Given the description of an element on the screen output the (x, y) to click on. 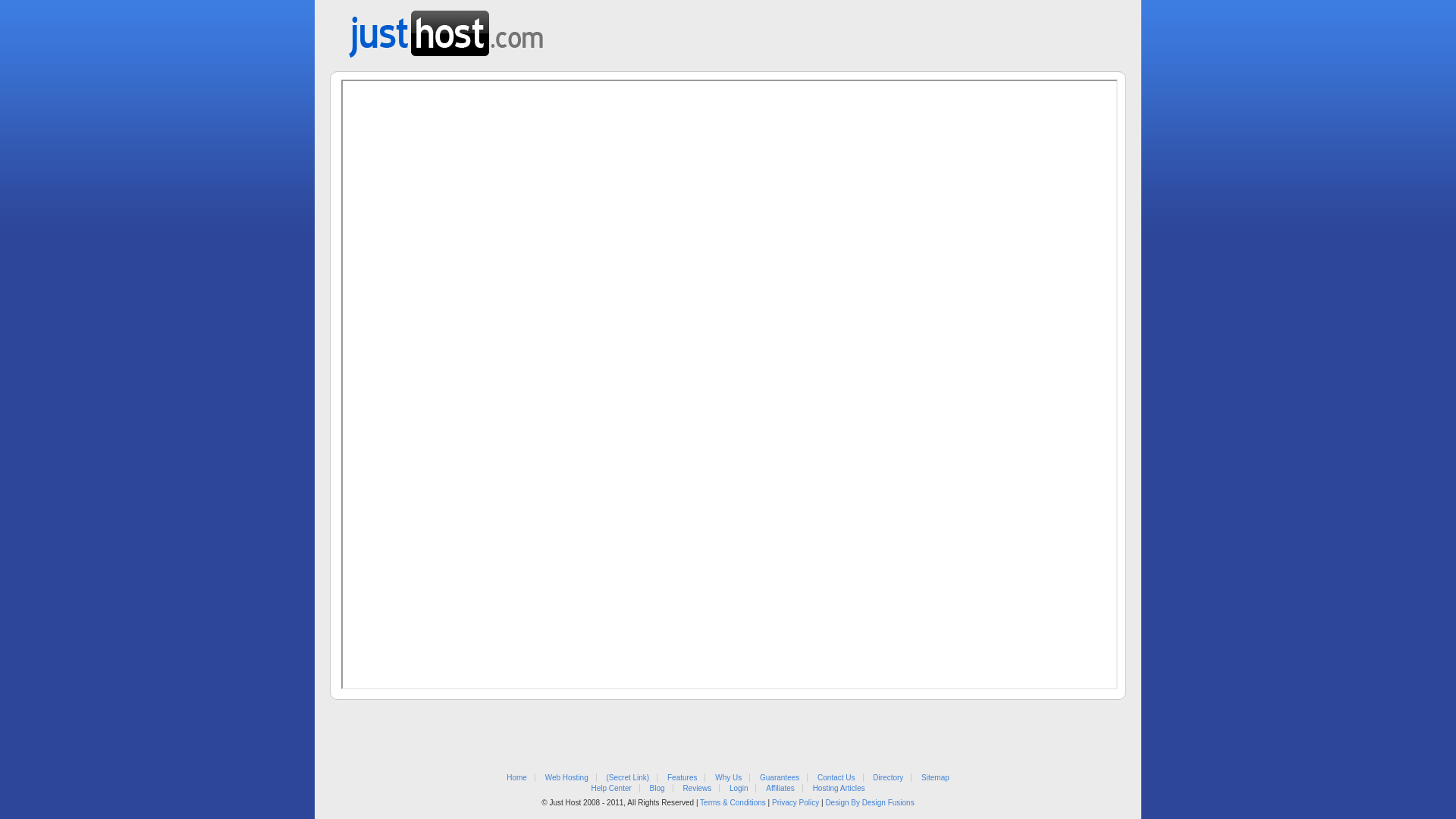
Hosting Articles Element type: text (838, 788)
Affiliates Element type: text (779, 788)
Blog Element type: text (657, 788)
(Secret Link) Element type: text (627, 777)
Guarantees Element type: text (779, 777)
Web Hosting from Just Host Element type: text (445, 28)
Help Center Element type: text (610, 788)
Web Hosting Element type: text (566, 777)
Terms & Conditions Element type: text (732, 802)
Contact Us Element type: text (835, 777)
Directory Element type: text (887, 777)
Login Element type: text (738, 788)
Sitemap Element type: text (935, 777)
Home Element type: text (516, 777)
Design By Design Fusions Element type: text (869, 802)
Reviews Element type: text (696, 788)
Features Element type: text (681, 777)
Why Us Element type: text (728, 777)
Privacy Policy Element type: text (795, 802)
